Given the description of an element on the screen output the (x, y) to click on. 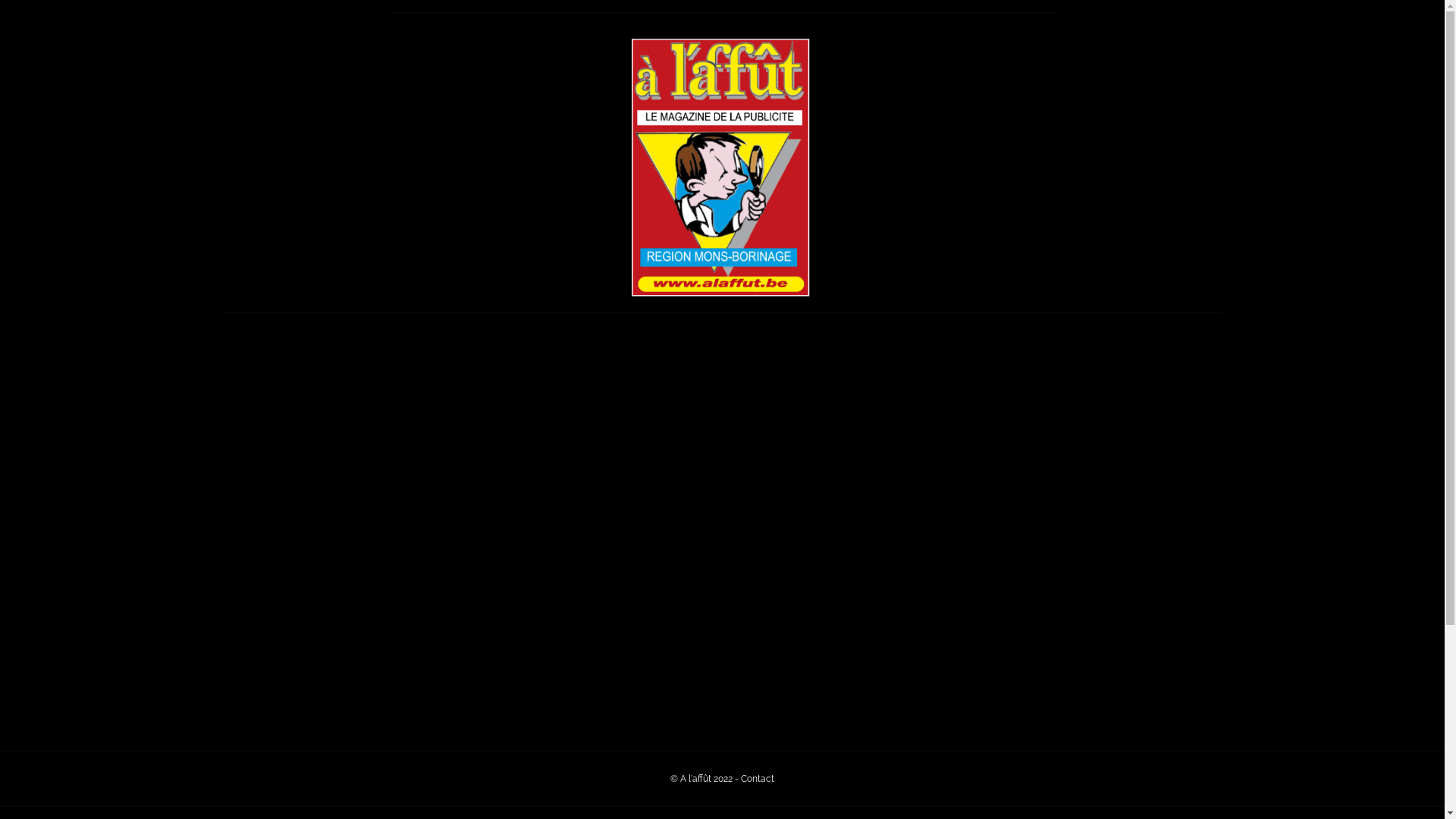
Contact Element type: text (757, 778)
